Given the description of an element on the screen output the (x, y) to click on. 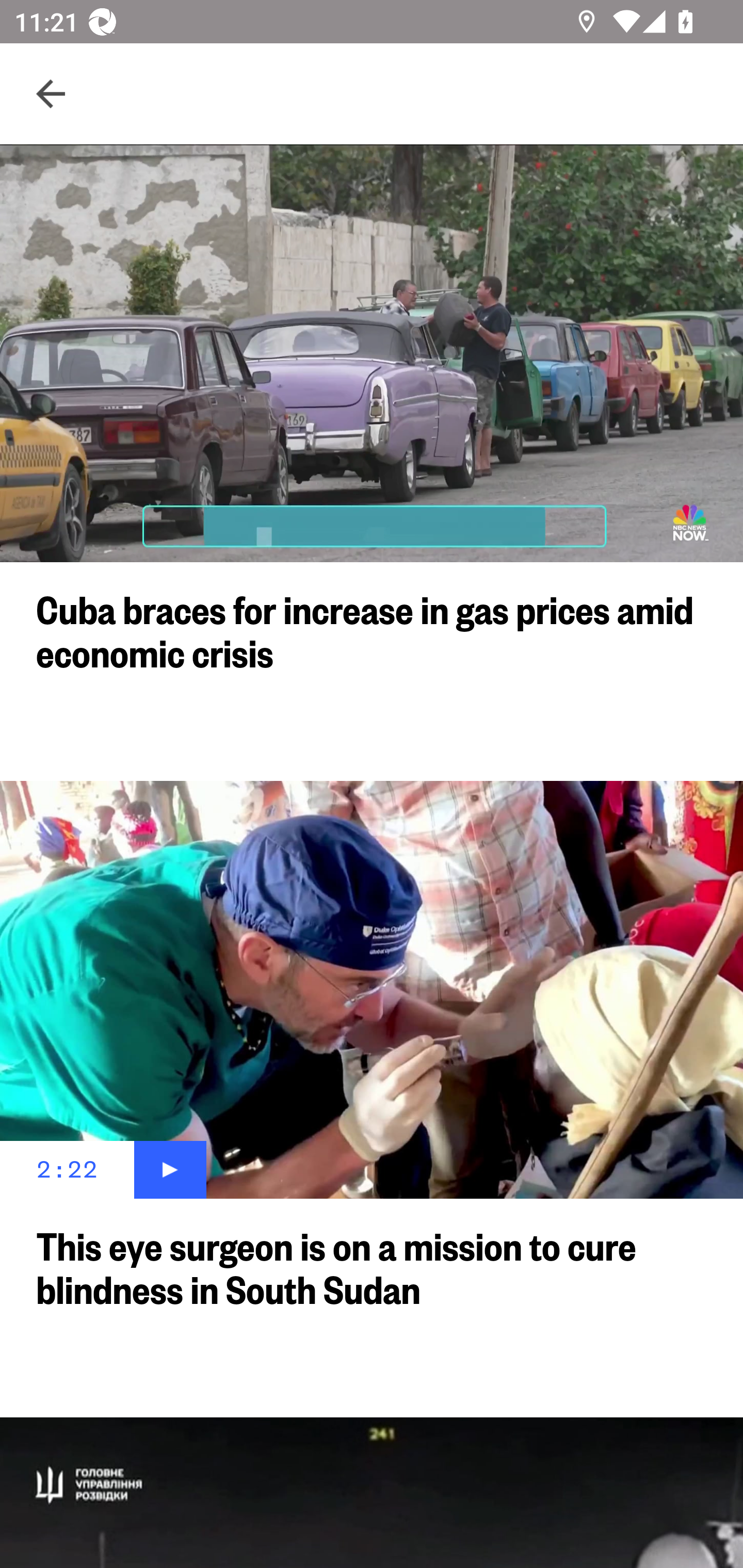
Navigate up (50, 93)
